Given the description of an element on the screen output the (x, y) to click on. 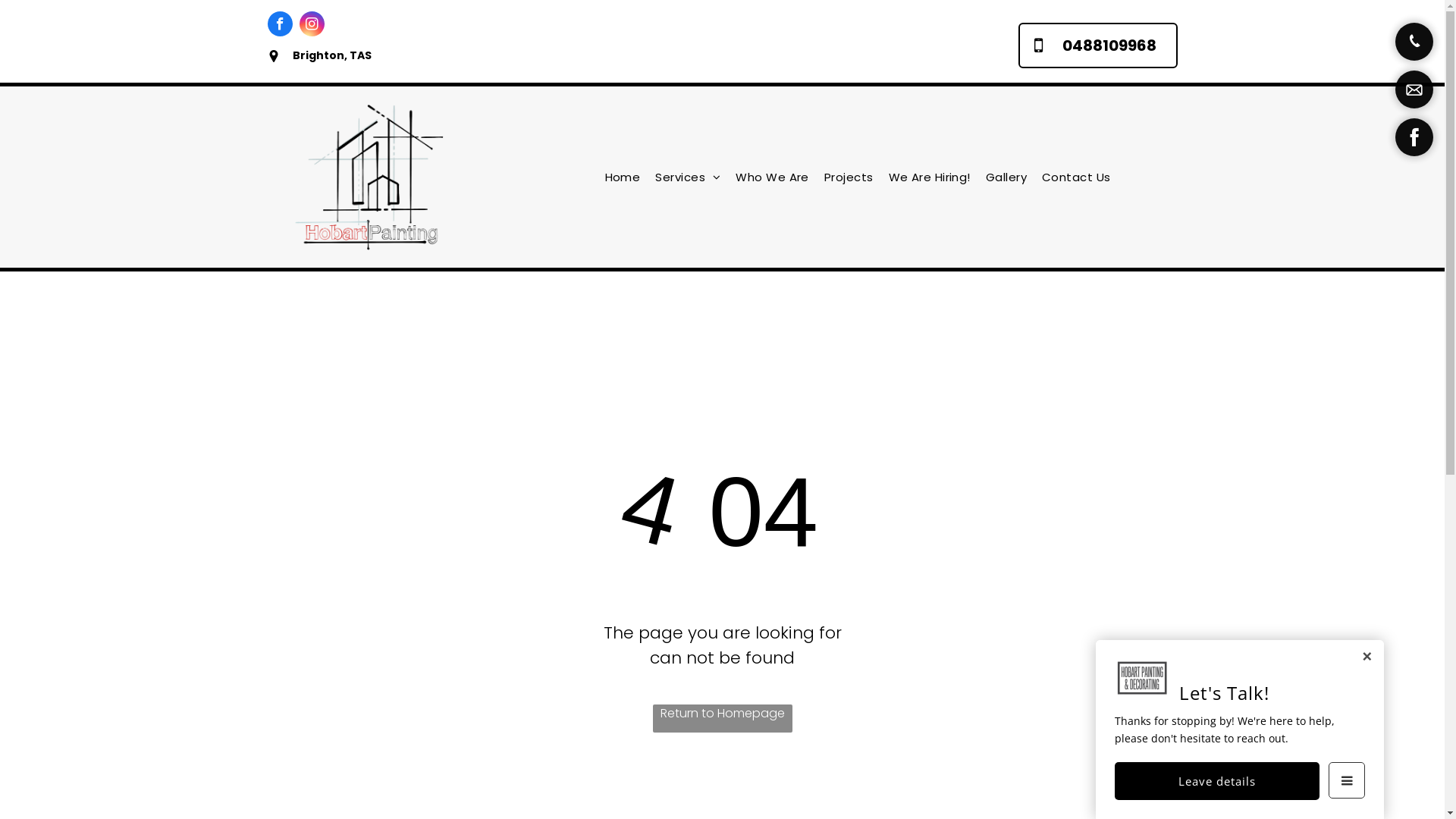
Return to Homepage Element type: text (721, 718)
We Are Hiring! Element type: text (929, 177)
Leave details Element type: text (1216, 781)
 Brighton, TAS Element type: text (329, 54)
Hobart Painting and Decorating Element type: hover (374, 176)
Gallery Element type: text (1006, 177)
Services Element type: text (687, 177)
Home Element type: text (622, 177)
Projects Element type: text (848, 177)
Who We Are Element type: text (772, 177)
Contact Us Element type: text (1076, 177)
0488109968 Element type: text (1096, 45)
